Given the description of an element on the screen output the (x, y) to click on. 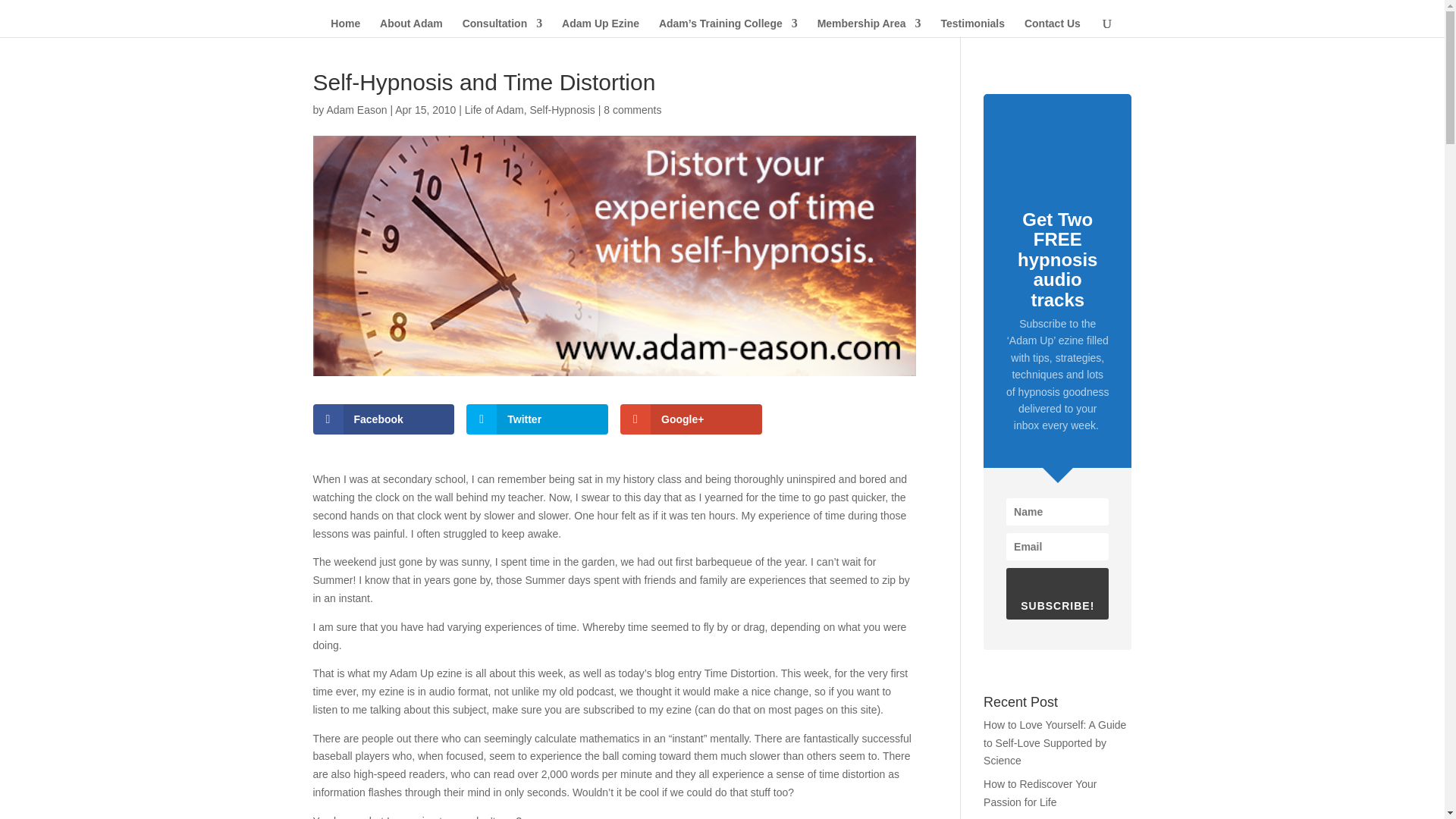
Self-Hypnosis (561, 110)
Contact Us (1052, 27)
Twitter (536, 419)
Adam Up Ezine (600, 27)
About Adam (411, 27)
Membership Area (868, 27)
Home (344, 27)
Facebook (383, 419)
Posts by Adam Eason (356, 110)
8 comments (632, 110)
Adam Eason (356, 110)
Consultation (503, 27)
Testimonials (972, 27)
Life of Adam (494, 110)
